Given the description of an element on the screen output the (x, y) to click on. 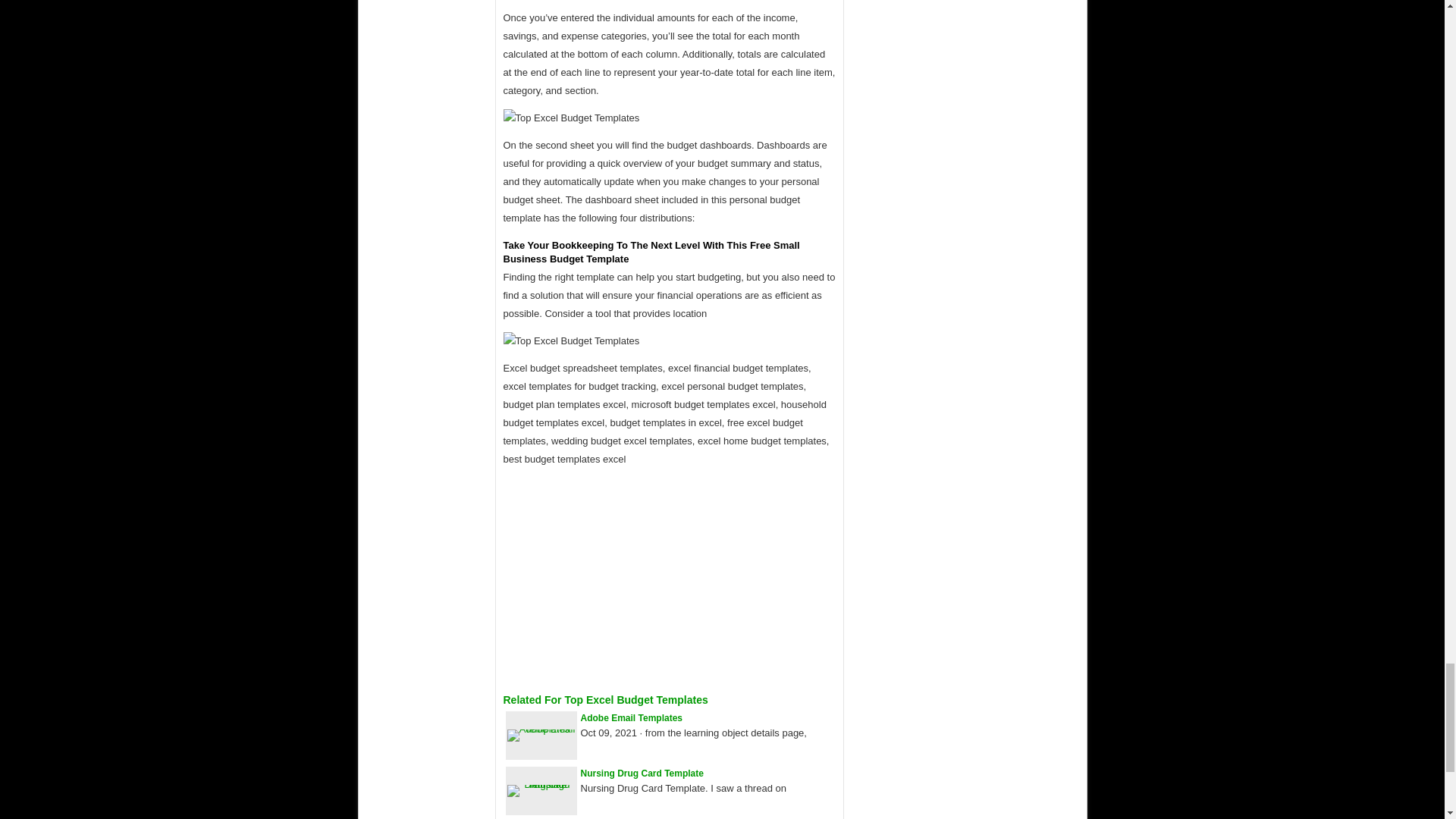
Nursing Drug Card Template (641, 773)
Adobe Email Templates (631, 717)
